Given the description of an element on the screen output the (x, y) to click on. 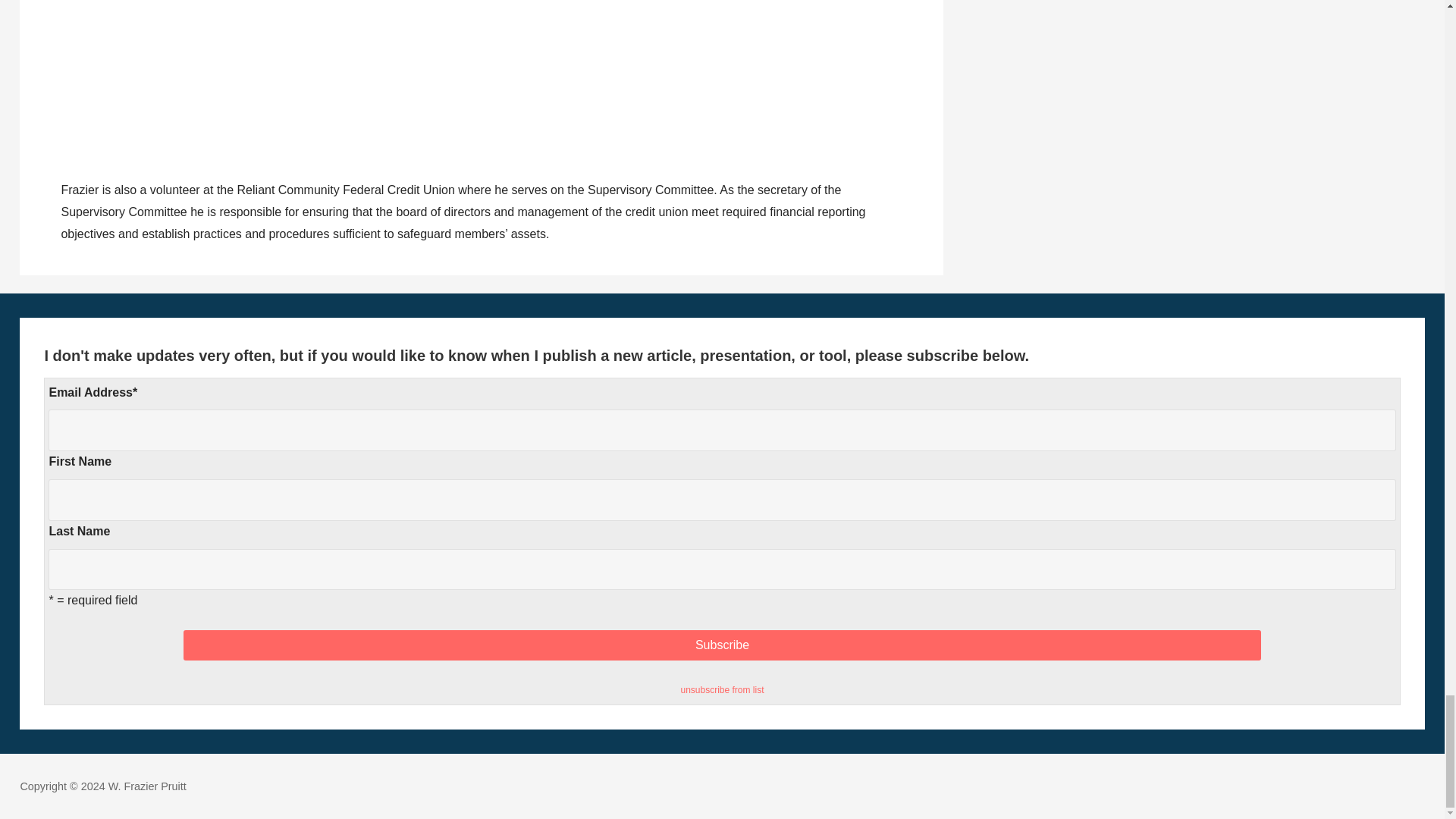
Subscribe (721, 644)
unsubscribe from list (720, 689)
Subscribe (721, 644)
